Given the description of an element on the screen output the (x, y) to click on. 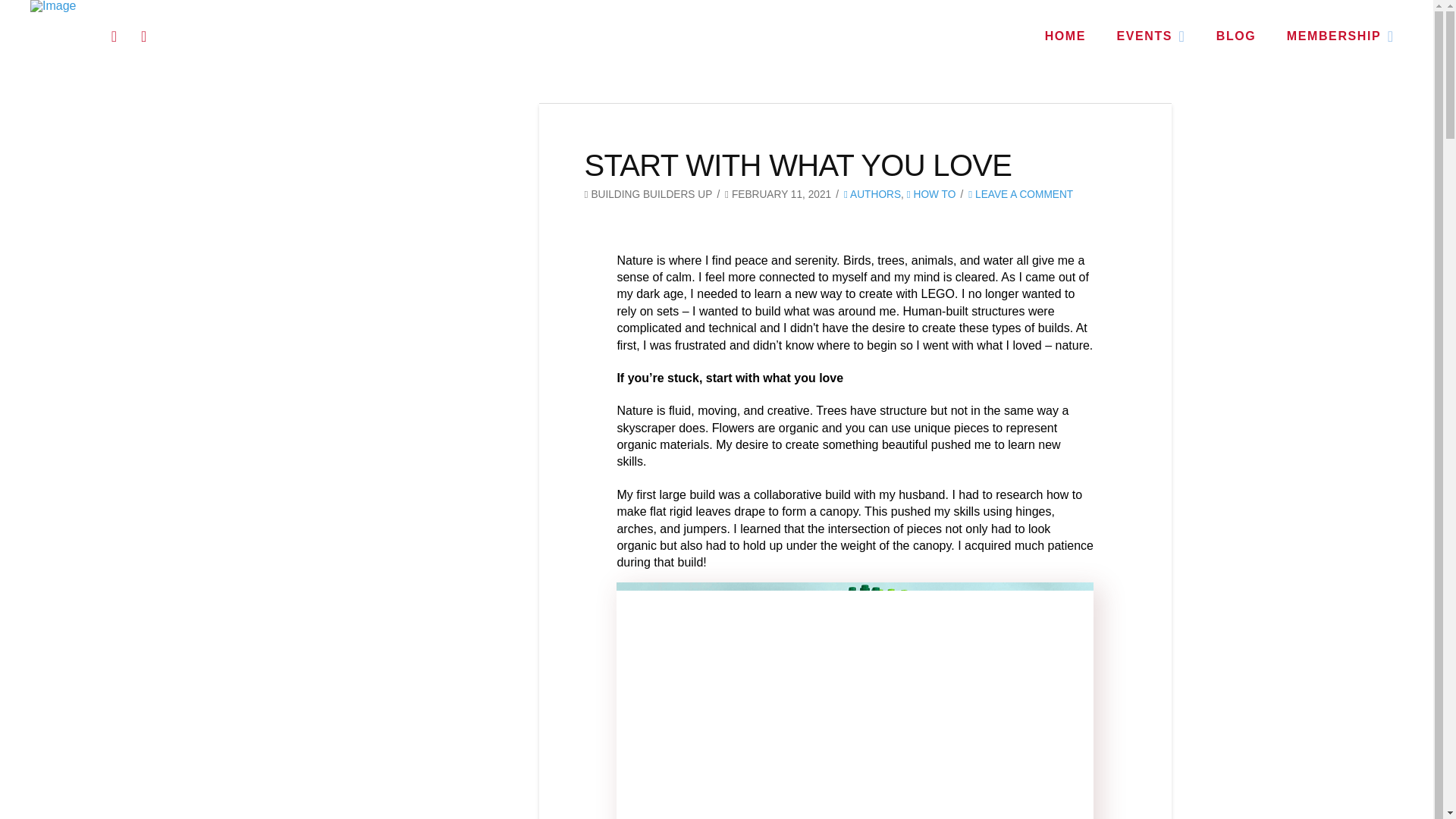
HOW TO (931, 194)
HOME (1064, 36)
MEMBERSHIP (1340, 36)
AUTHORS (872, 194)
LEAVE A COMMENT (1020, 194)
BLOG (1235, 36)
EVENTS (1149, 36)
